Given the description of an element on the screen output the (x, y) to click on. 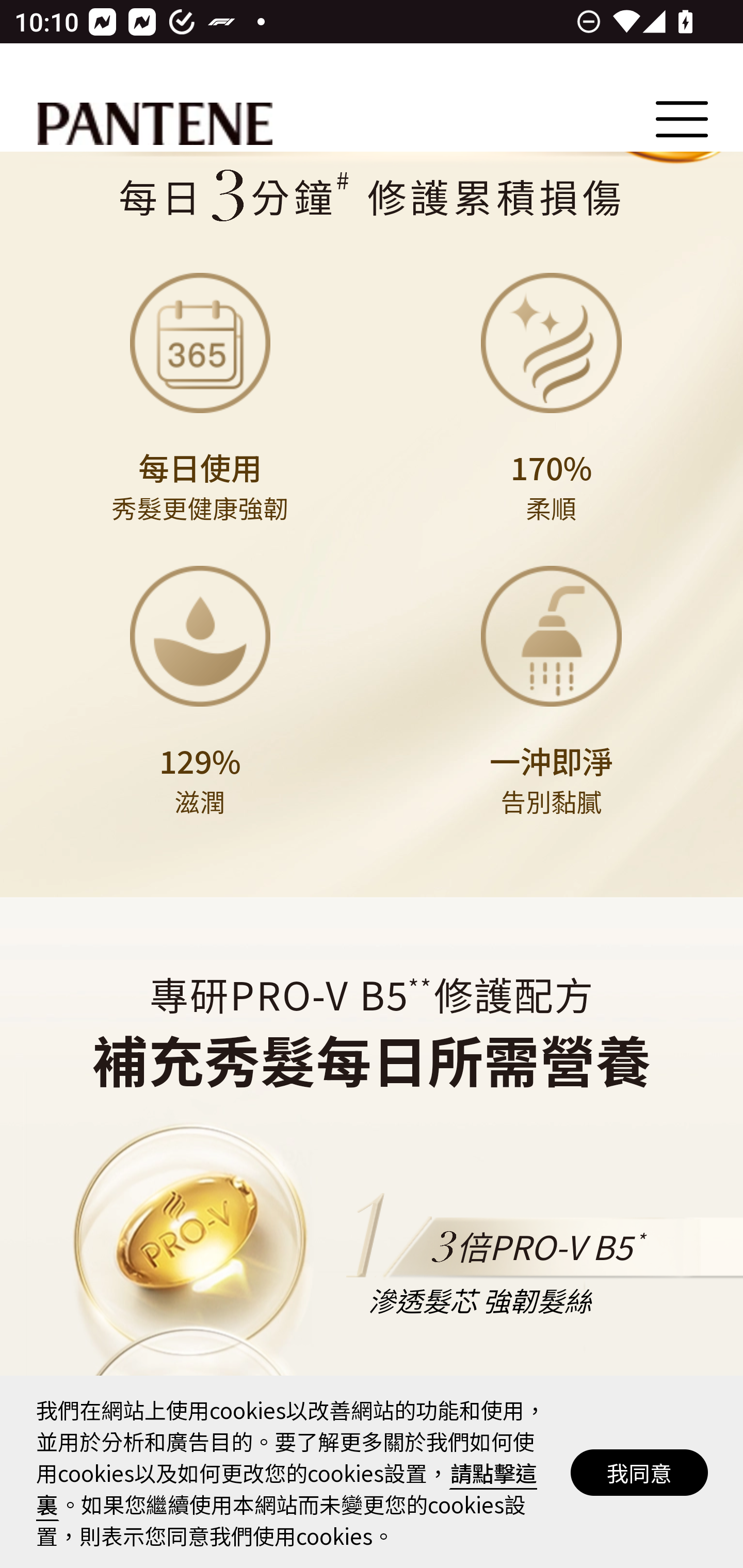
pantene 潘婷 PANTENE logo pantene 潘婷 PANTENE logo (155, 125)
髮質檢測分析 (371, 196)
我同意 (639, 1471)
請點擊這裏 (286, 1487)
